Given the description of an element on the screen output the (x, y) to click on. 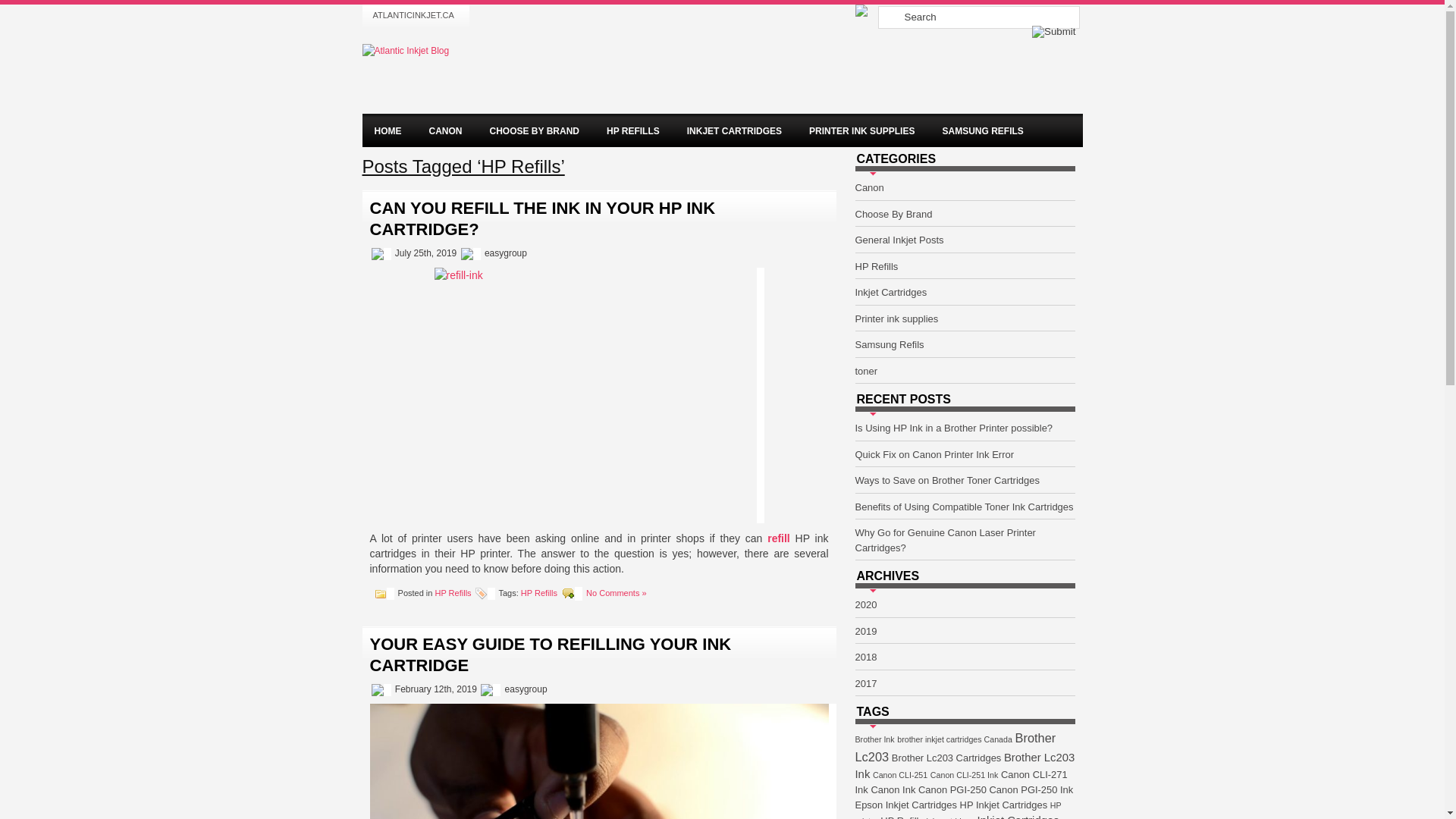
brother inkjet cartridges Canada Element type: text (954, 738)
Atlantic Inkjet Blog Element type: hover (405, 50)
HP REFILLS Element type: text (632, 131)
HP Refills Element type: text (452, 592)
Canon Ink Element type: text (892, 789)
Is Using HP Ink in a Brother Printer possible? Element type: text (954, 427)
Brother Lc203 Element type: text (955, 747)
HP Refills Element type: text (876, 266)
refill Element type: text (778, 538)
Brother Lc203 Cartridges Element type: text (946, 757)
2017 Element type: text (866, 683)
Canon Element type: text (869, 187)
HP Inkjet Cartridges Element type: text (1004, 804)
HOME Element type: text (388, 131)
CANON Element type: text (445, 131)
Ways to Save on Brother Toner Cartridges Element type: text (947, 480)
Why Go for Genuine Canon Laser Printer Cartridges? Element type: text (945, 540)
General Inkjet Posts Element type: text (899, 239)
CHOOSE BY BRAND Element type: text (534, 131)
SAMSUNG REFILS Element type: text (982, 131)
Canon PGI-250 Ink Element type: text (1031, 789)
PRINTER INK SUPPLIES Element type: text (861, 131)
Inkjet Cartridges Element type: text (891, 292)
Printer ink supplies Element type: text (896, 317)
Brother Ink Element type: text (874, 738)
2020 Element type: text (866, 604)
Epson Inkjet Cartridges Element type: text (906, 804)
CAN YOU REFILL THE INK IN YOUR HP INK CARTRIDGE? Element type: text (542, 218)
2019 Element type: text (866, 630)
Quick Fix on Canon Printer Ink Error Element type: text (934, 454)
Canon CLI-251 Element type: text (899, 774)
INKJET CARTRIDGES Element type: text (733, 131)
Brother Lc203 Ink Element type: text (965, 766)
Samsung Refils Element type: text (889, 344)
2018 Element type: text (866, 656)
Benefits of Using Compatible Toner Ink Cartridges Element type: text (964, 505)
ATLANTICINKJET.CA Element type: text (413, 15)
Canon CLI-271 Ink Element type: text (961, 781)
toner Element type: text (866, 370)
Canon CLI-251 Ink Element type: text (963, 774)
YOUR EASY GUIDE TO REFILLING YOUR INK CARTRIDGE Element type: text (550, 654)
HP Refills Element type: text (538, 592)
Choose By Brand Element type: text (893, 213)
Canon PGI-250 Element type: text (952, 789)
